Given the description of an element on the screen output the (x, y) to click on. 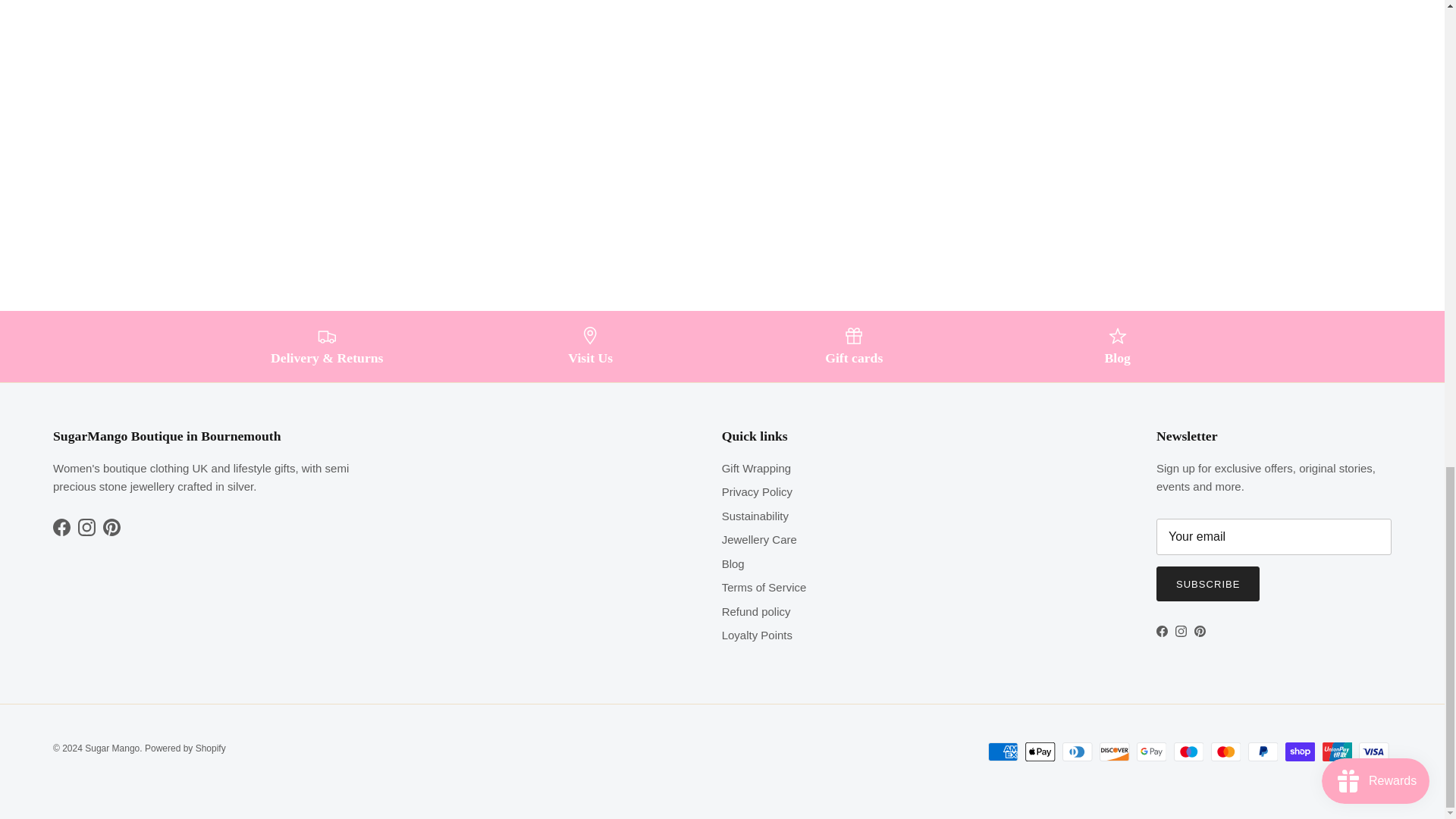
Sugar Mango on Instagram (87, 527)
Sugar Mango on Instagram (1180, 631)
Sugar Mango on Pinterest (1199, 631)
Sugar Mango on Facebook (60, 527)
Sugar Mango on Pinterest (111, 527)
Sugar Mango on Facebook (1161, 631)
